Given the description of an element on the screen output the (x, y) to click on. 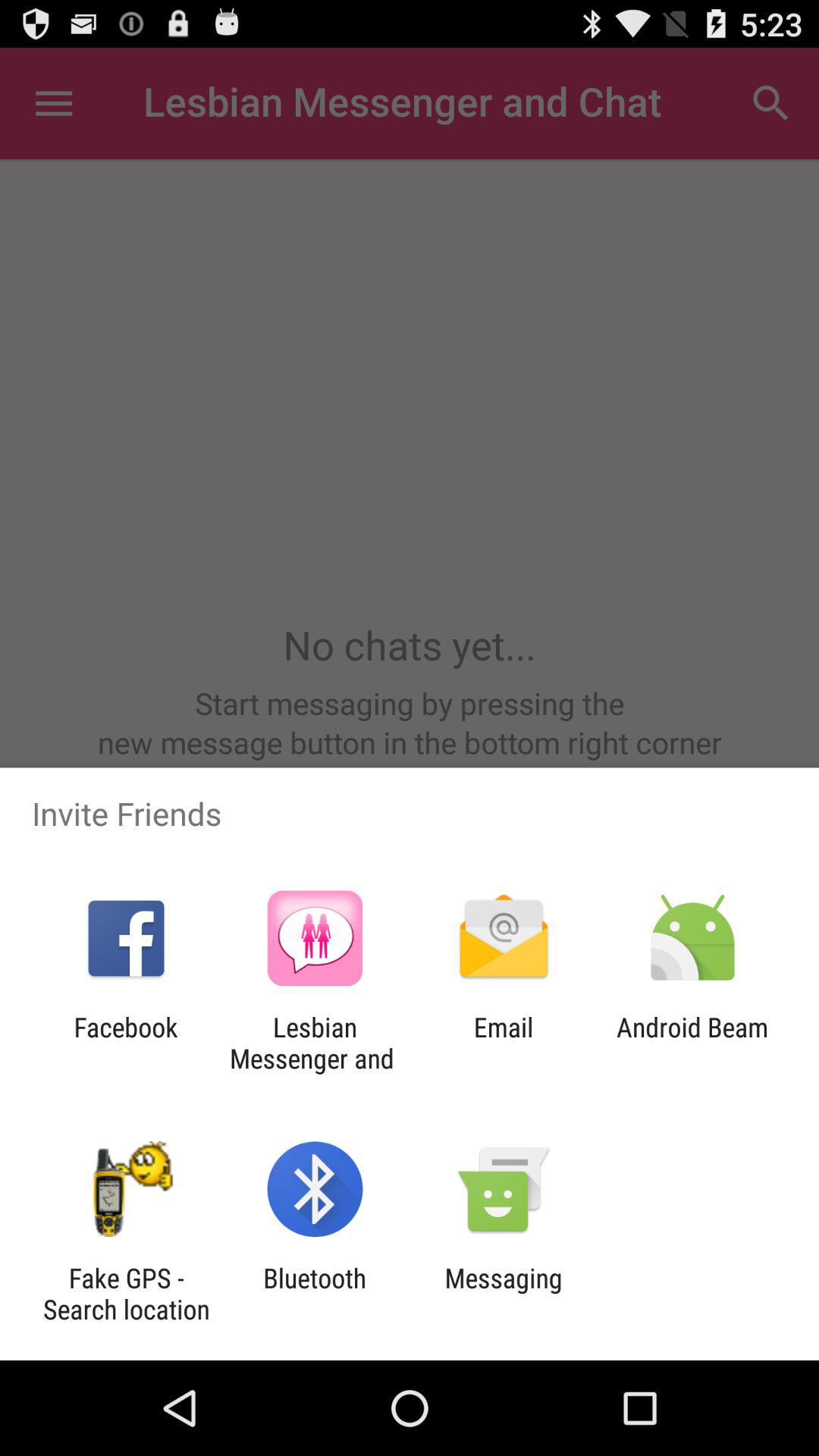
tap app next to android beam icon (503, 1042)
